Given the description of an element on the screen output the (x, y) to click on. 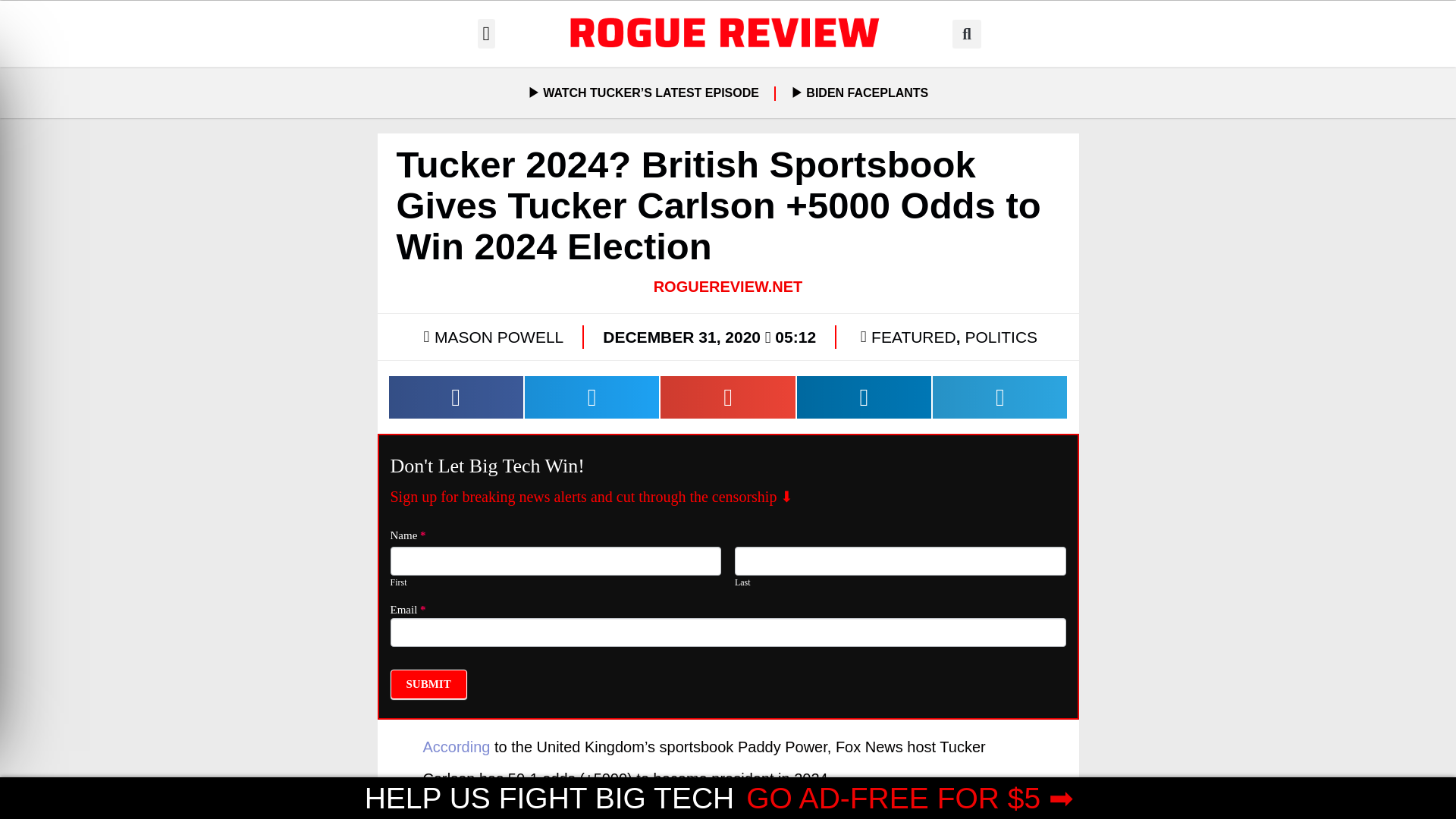
According (456, 746)
POLITICS (999, 336)
FEATURED (913, 336)
MASON POWELL (491, 336)
SUBMIT (427, 684)
